Given the description of an element on the screen output the (x, y) to click on. 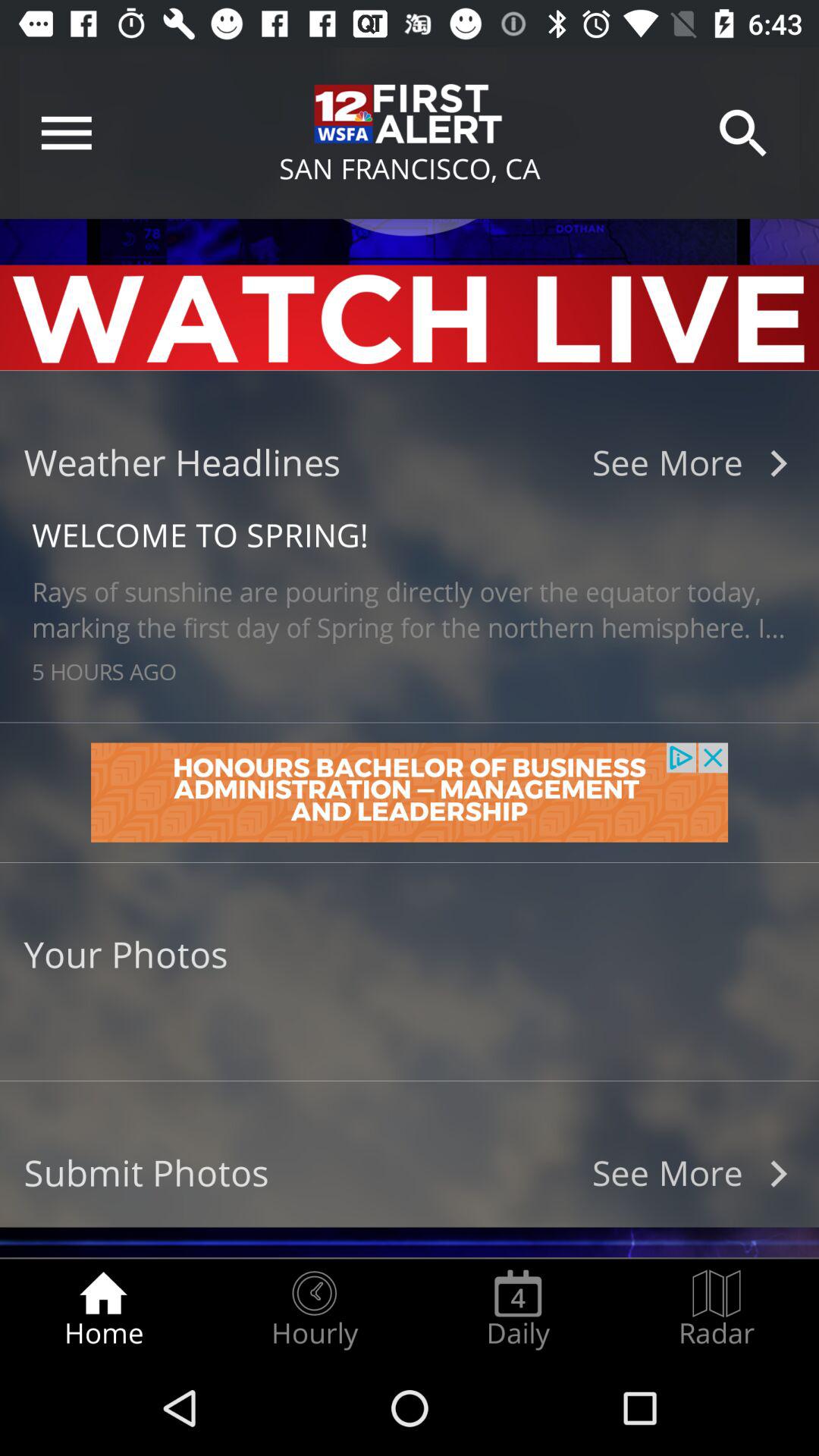
tap item to the left of daily icon (314, 1309)
